Given the description of an element on the screen output the (x, y) to click on. 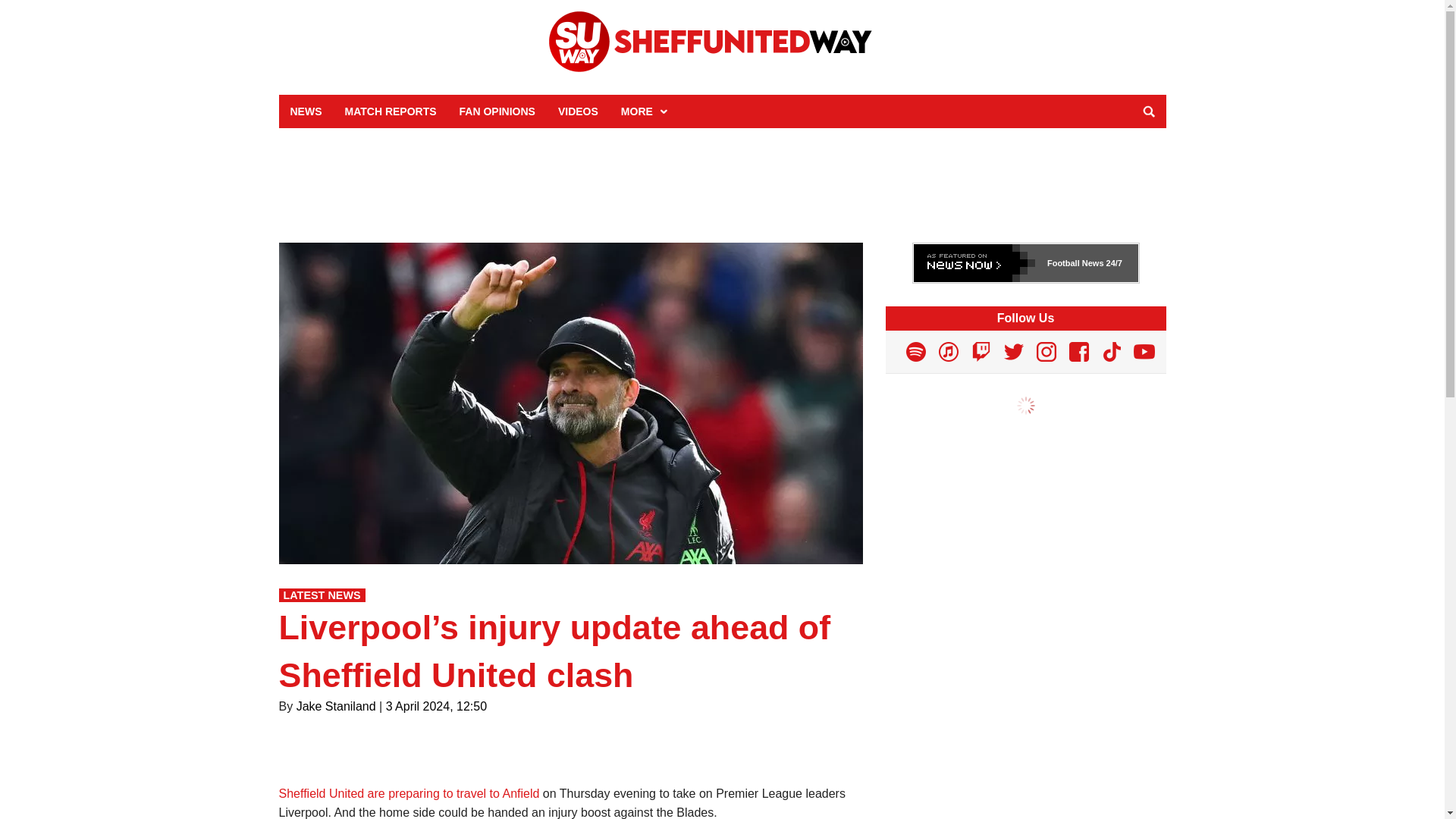
MORE (642, 111)
Sheffield United are preparing to travel to Anfield (409, 793)
Jake Staniland (336, 706)
LATEST NEWS (322, 594)
VIDEOS (578, 111)
3 April 2024, 12:50 (435, 706)
Latest Latest News News (322, 594)
Search (1147, 111)
MATCH REPORTS (390, 111)
FAN OPINIONS (497, 111)
NEWS (306, 111)
